Given the description of an element on the screen output the (x, y) to click on. 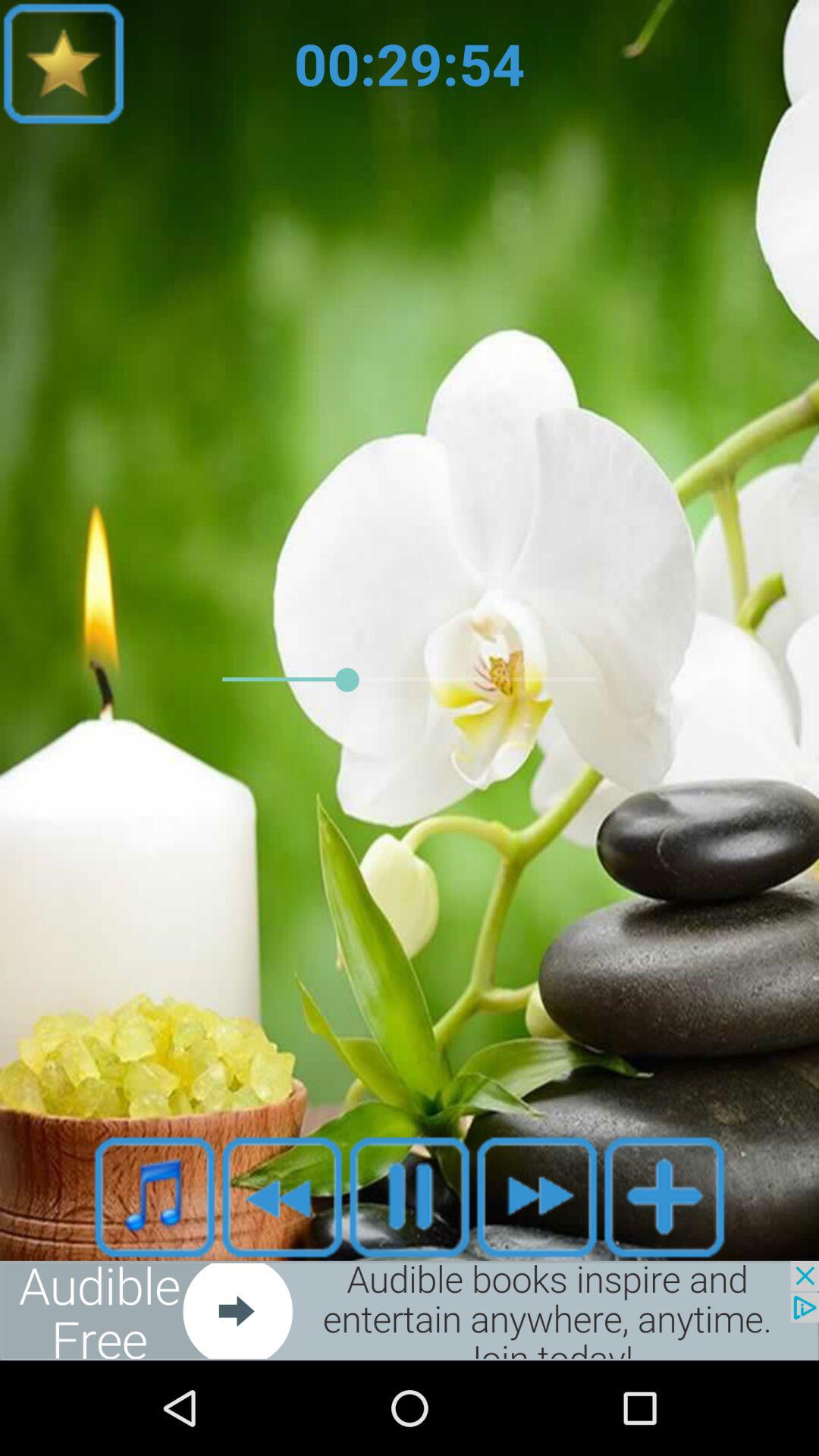
pause (409, 1196)
